Given the description of an element on the screen output the (x, y) to click on. 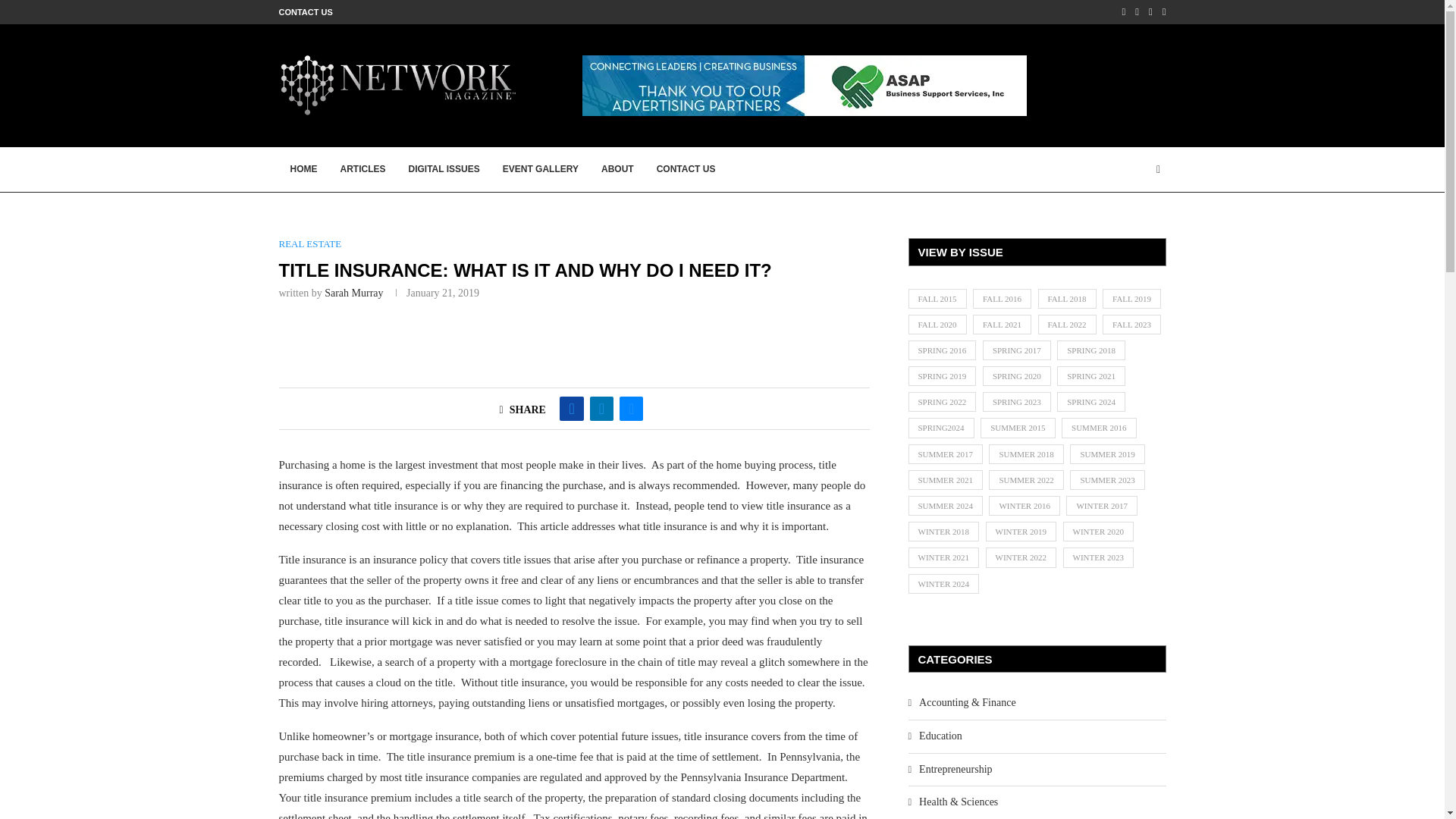
ARTICLES (363, 169)
Sarah Murray (353, 292)
HOME (304, 169)
REAL ESTATE (310, 244)
DIGITAL ISSUES (444, 169)
CONTACT US (685, 169)
ABOUT (617, 169)
CONTACT US (306, 12)
EVENT GALLERY (540, 169)
